Given the description of an element on the screen output the (x, y) to click on. 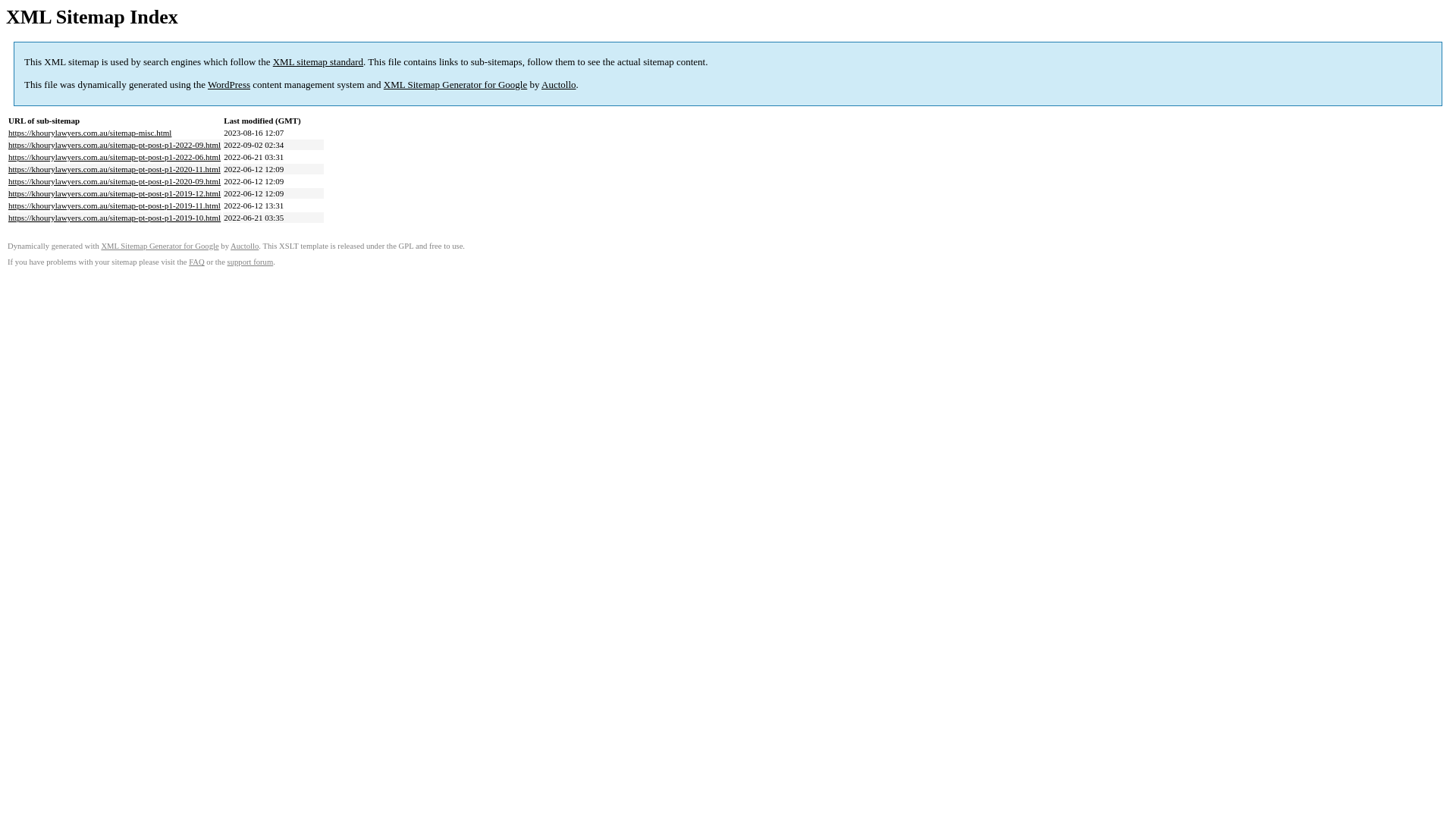
https://khourylawyers.com.au/sitemap-pt-post-p1-2020-09.html Element type: text (114, 180)
https://khourylawyers.com.au/sitemap-pt-post-p1-2022-09.html Element type: text (114, 144)
WordPress Element type: text (228, 84)
https://khourylawyers.com.au/sitemap-pt-post-p1-2019-10.html Element type: text (114, 217)
support forum Element type: text (250, 261)
https://khourylawyers.com.au/sitemap-pt-post-p1-2019-11.html Element type: text (114, 205)
https://khourylawyers.com.au/sitemap-pt-post-p1-2022-06.html Element type: text (114, 156)
XML Sitemap Generator for Google Element type: text (455, 84)
Auctollo Element type: text (244, 245)
Auctollo Element type: text (558, 84)
https://khourylawyers.com.au/sitemap-pt-post-p1-2019-12.html Element type: text (114, 192)
XML sitemap standard Element type: text (318, 61)
XML Sitemap Generator for Google Element type: text (159, 245)
FAQ Element type: text (196, 261)
https://khourylawyers.com.au/sitemap-pt-post-p1-2020-11.html Element type: text (114, 168)
https://khourylawyers.com.au/sitemap-misc.html Element type: text (89, 132)
